Given the description of an element on the screen output the (x, y) to click on. 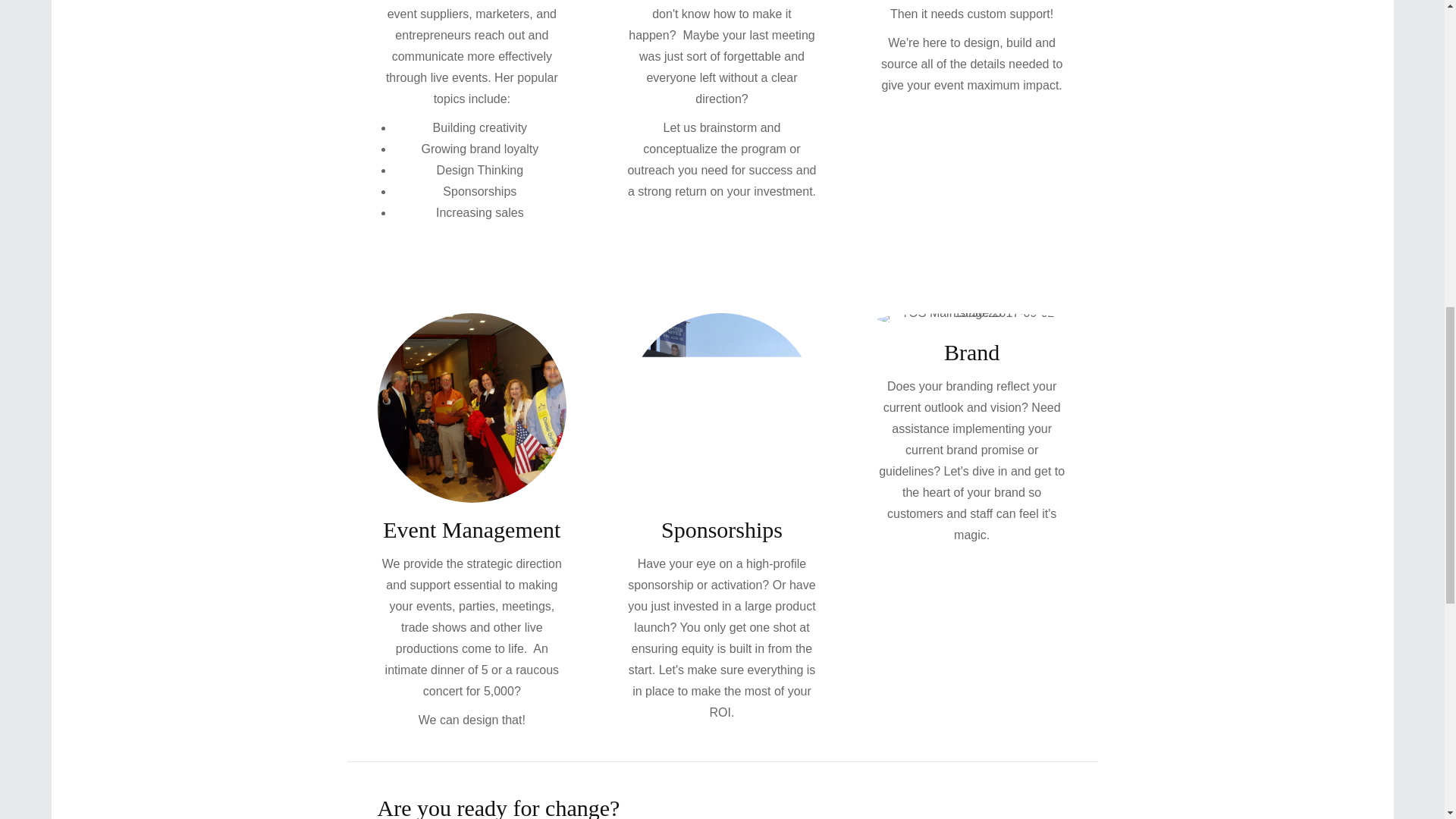
TOS Main stage 2017-09-02 15.56.23 (972, 318)
TOS Registration (721, 407)
OLYMPUS DIGITAL CAMERA (472, 407)
